Given the description of an element on the screen output the (x, y) to click on. 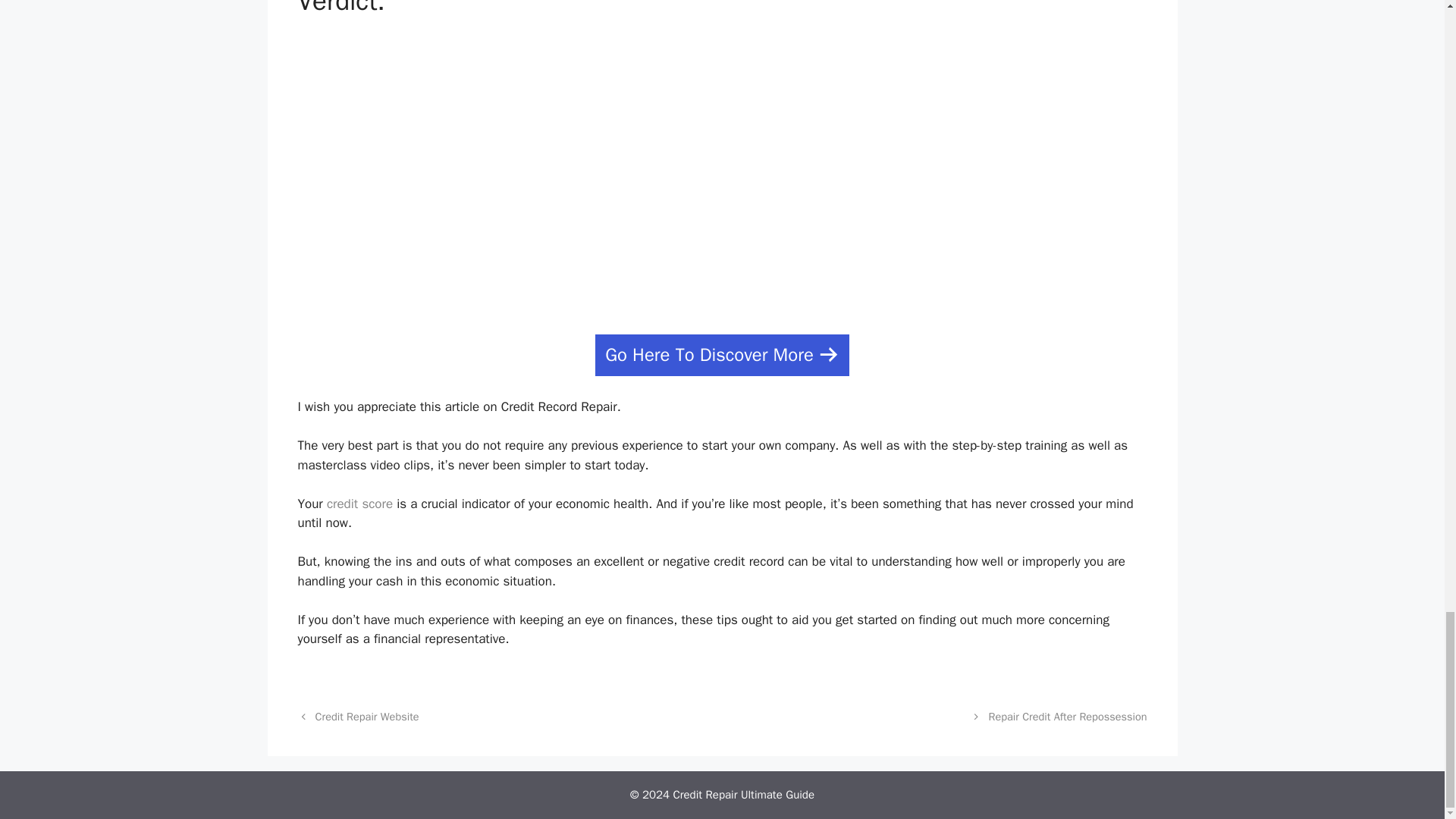
Go Here To Discover More (721, 354)
Repair Credit After Repossession (1067, 716)
credit score (359, 503)
Credit Repair Website (367, 716)
